Given the description of an element on the screen output the (x, y) to click on. 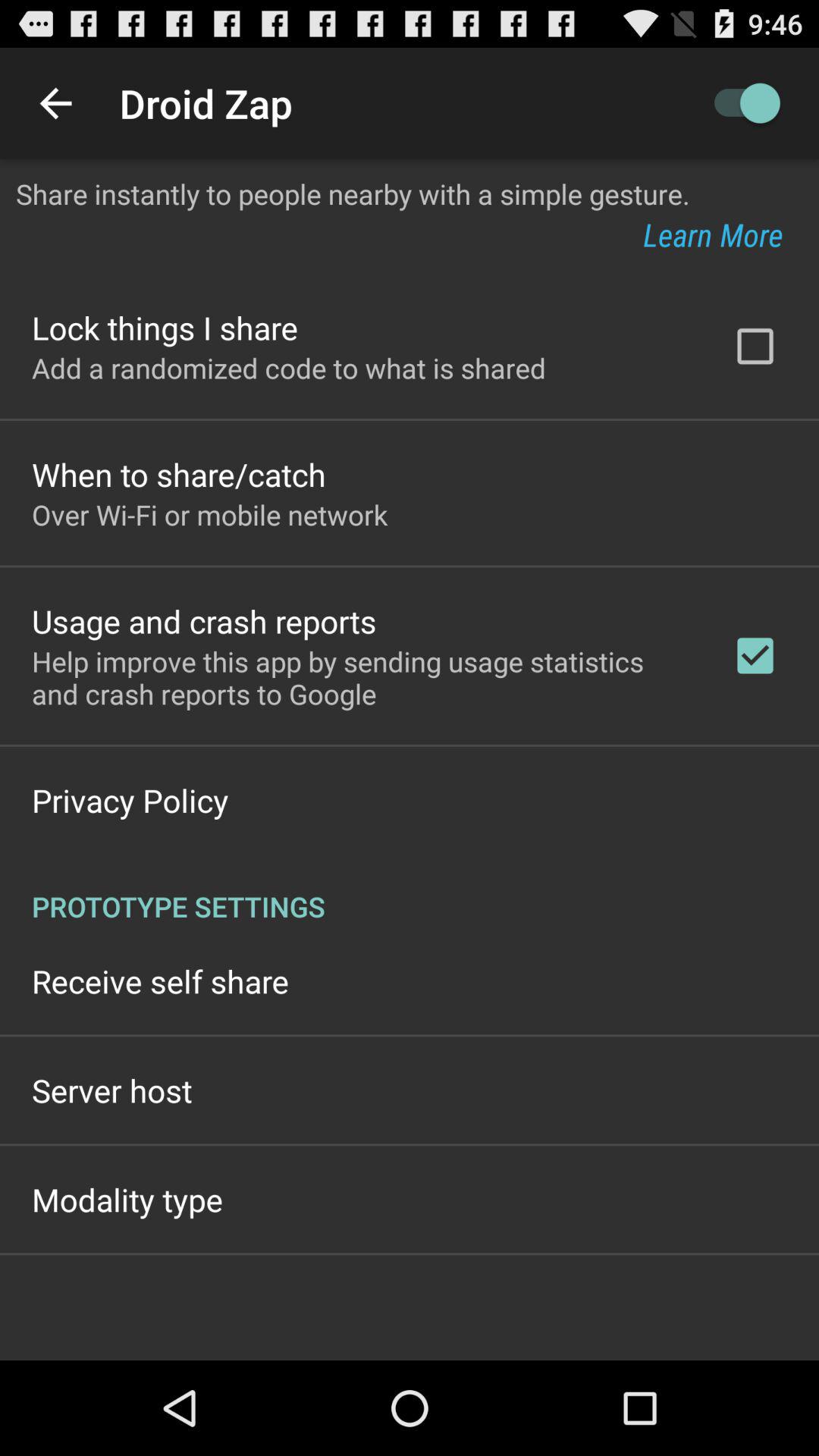
jump until help improve this icon (361, 677)
